Given the description of an element on the screen output the (x, y) to click on. 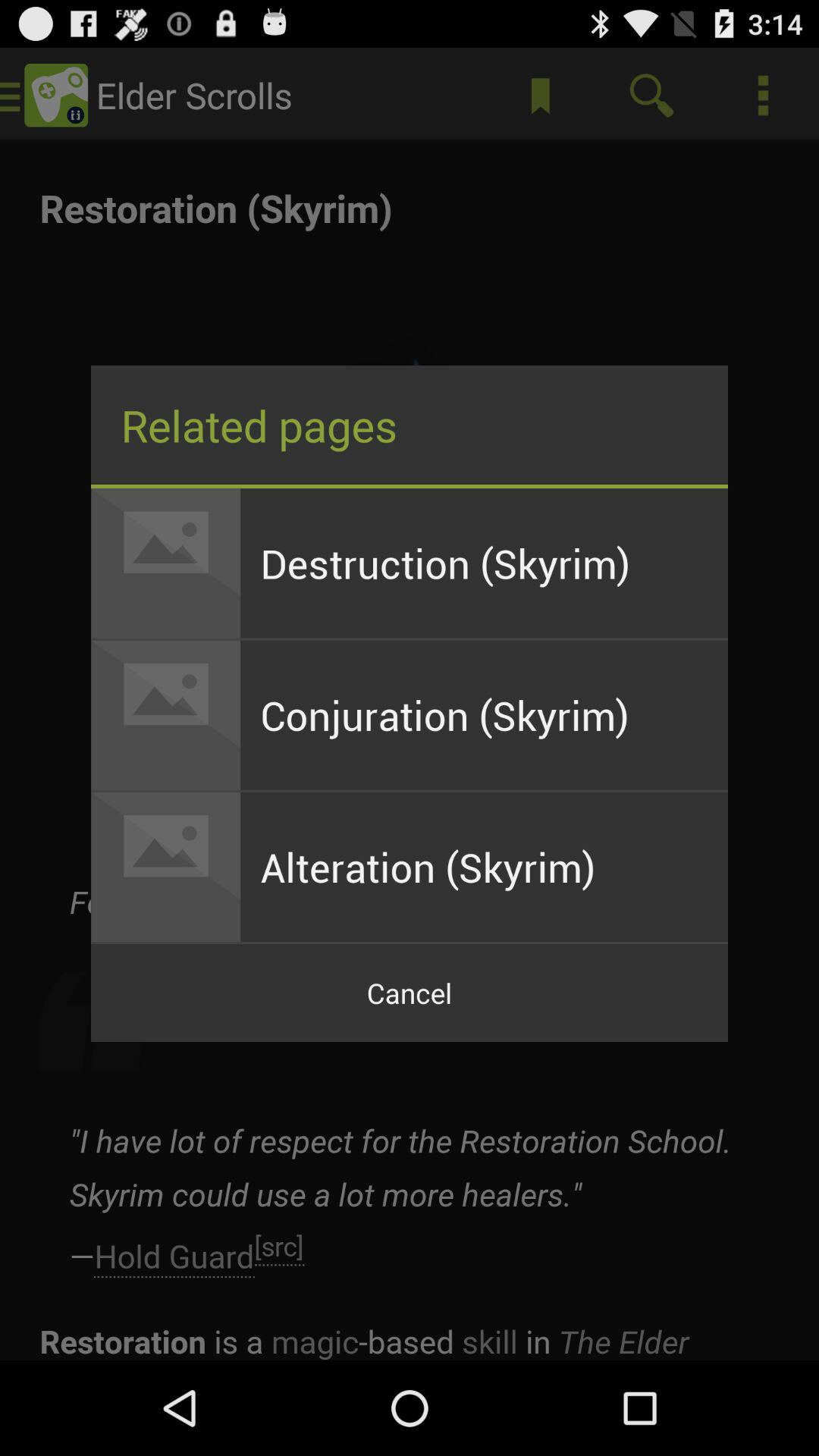
select the item at the bottom (409, 992)
